Given the description of an element on the screen output the (x, y) to click on. 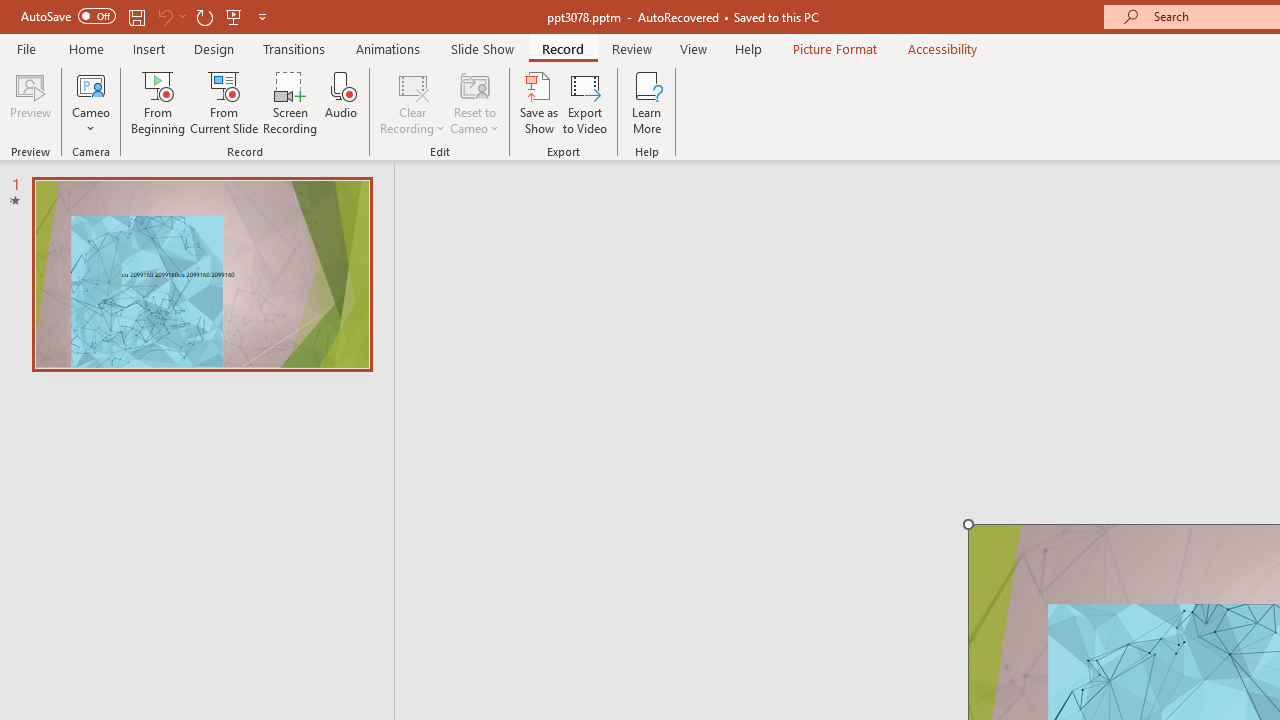
Screen Recording (290, 102)
From Beginning... (158, 102)
Preview (30, 102)
Export to Video (585, 102)
Picture Format (834, 48)
